Given the description of an element on the screen output the (x, y) to click on. 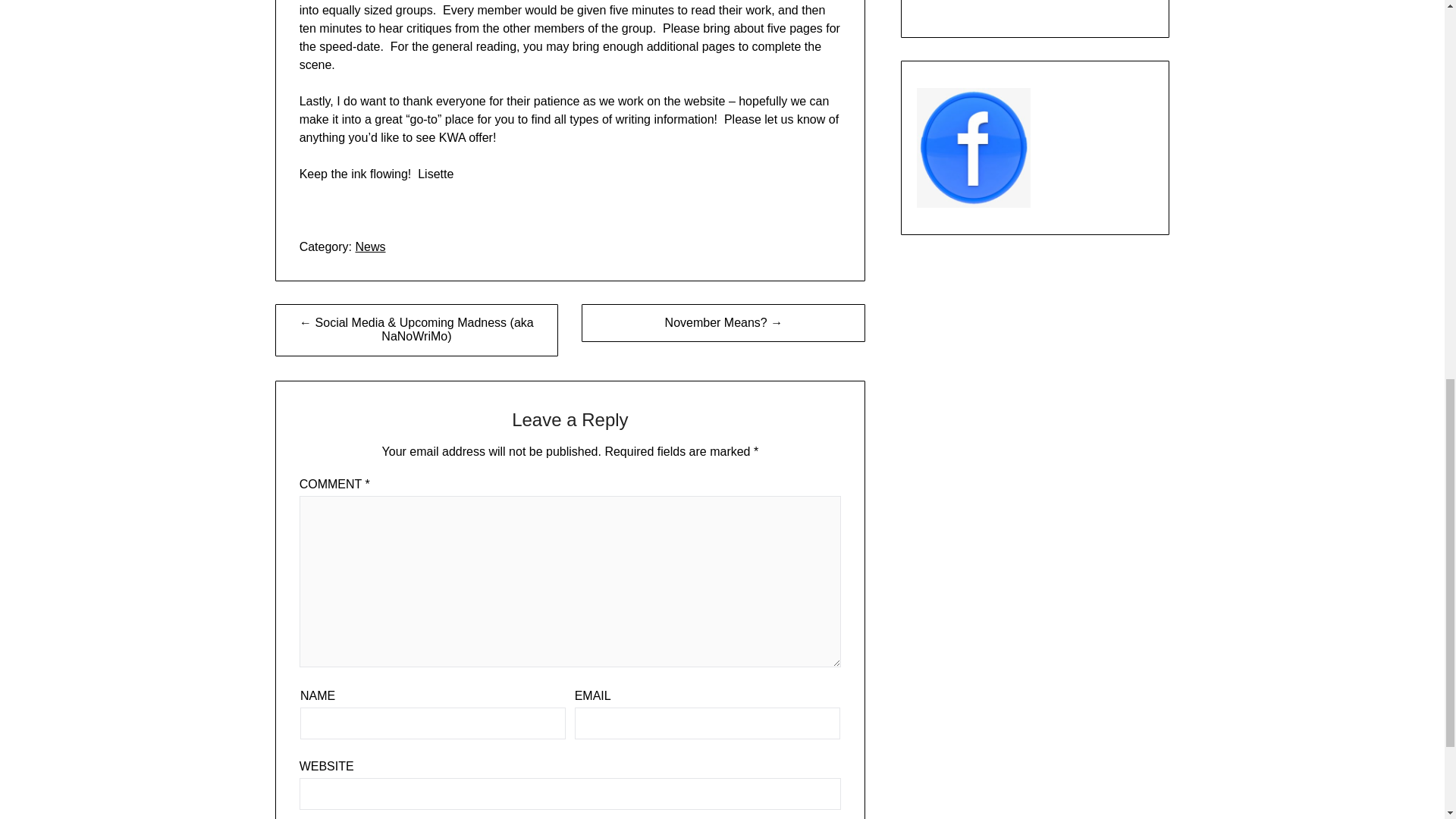
News (370, 246)
